Given the description of an element on the screen output the (x, y) to click on. 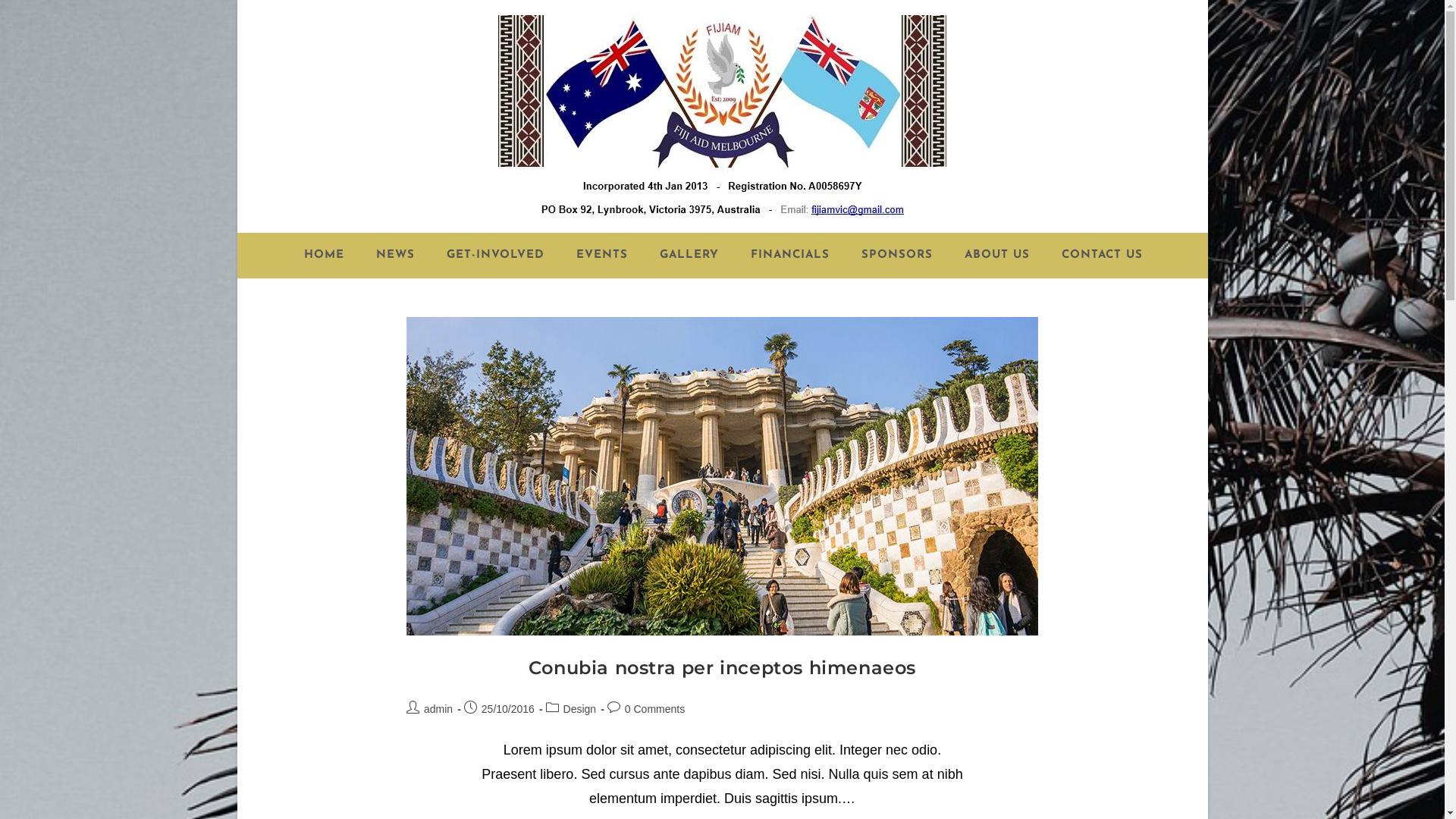
NEWS Element type: text (394, 255)
HOME Element type: text (322, 255)
SPONSORS Element type: text (895, 255)
ABOUT US Element type: text (995, 255)
EVENTS Element type: text (601, 255)
Design Element type: text (579, 708)
FINANCIALS Element type: text (789, 255)
GALLERY Element type: text (688, 255)
Conubia nostra per inceptos himenaeos Element type: text (722, 667)
GET-INVOLVED Element type: text (493, 255)
CONTACT US Element type: text (1100, 255)
admin Element type: text (437, 708)
0 Comments Element type: text (654, 708)
